Given the description of an element on the screen output the (x, y) to click on. 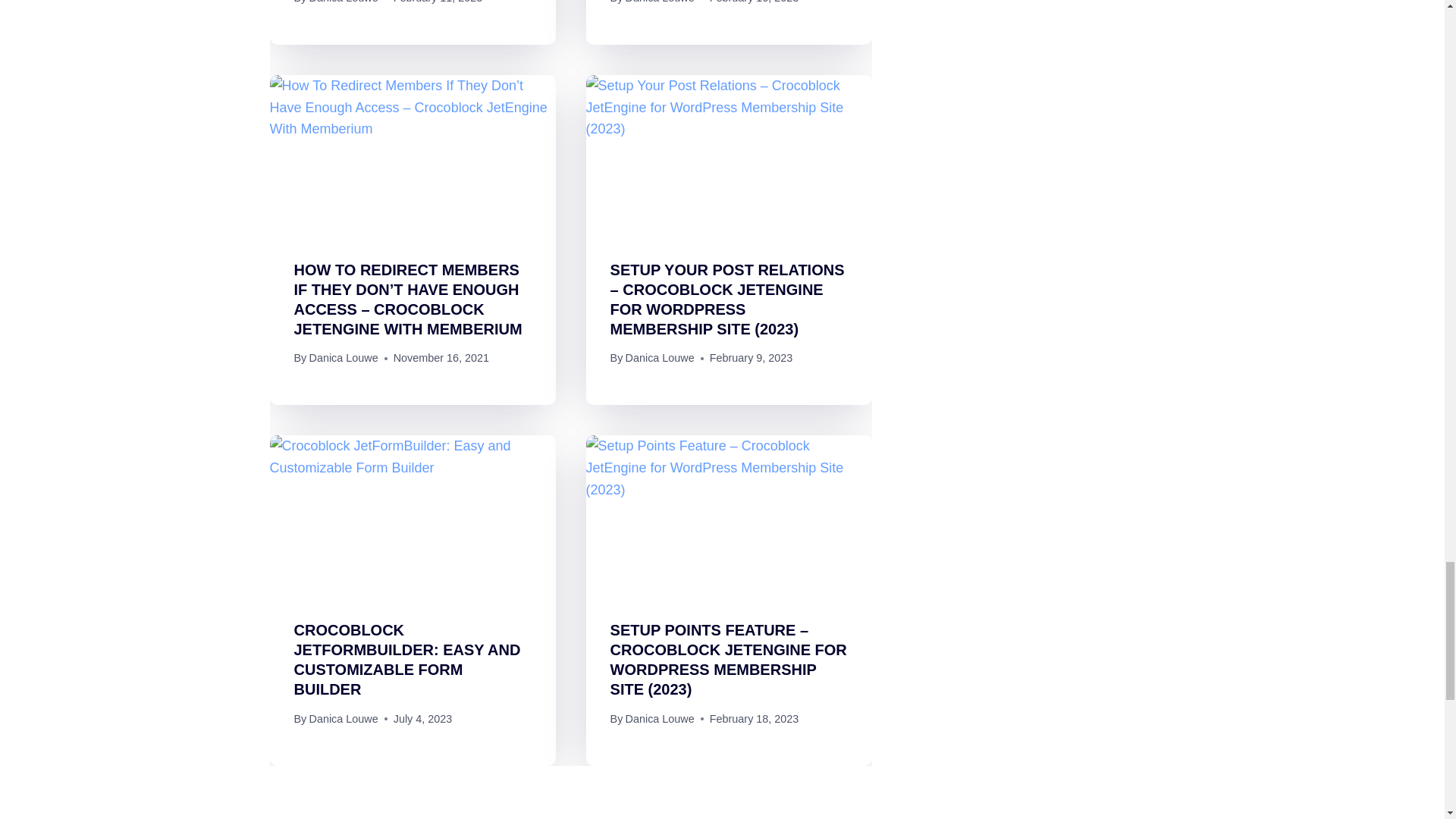
Danica Louwe (342, 357)
Danica Louwe (342, 2)
Danica Louwe (660, 357)
Danica Louwe (660, 2)
